Given the description of an element on the screen output the (x, y) to click on. 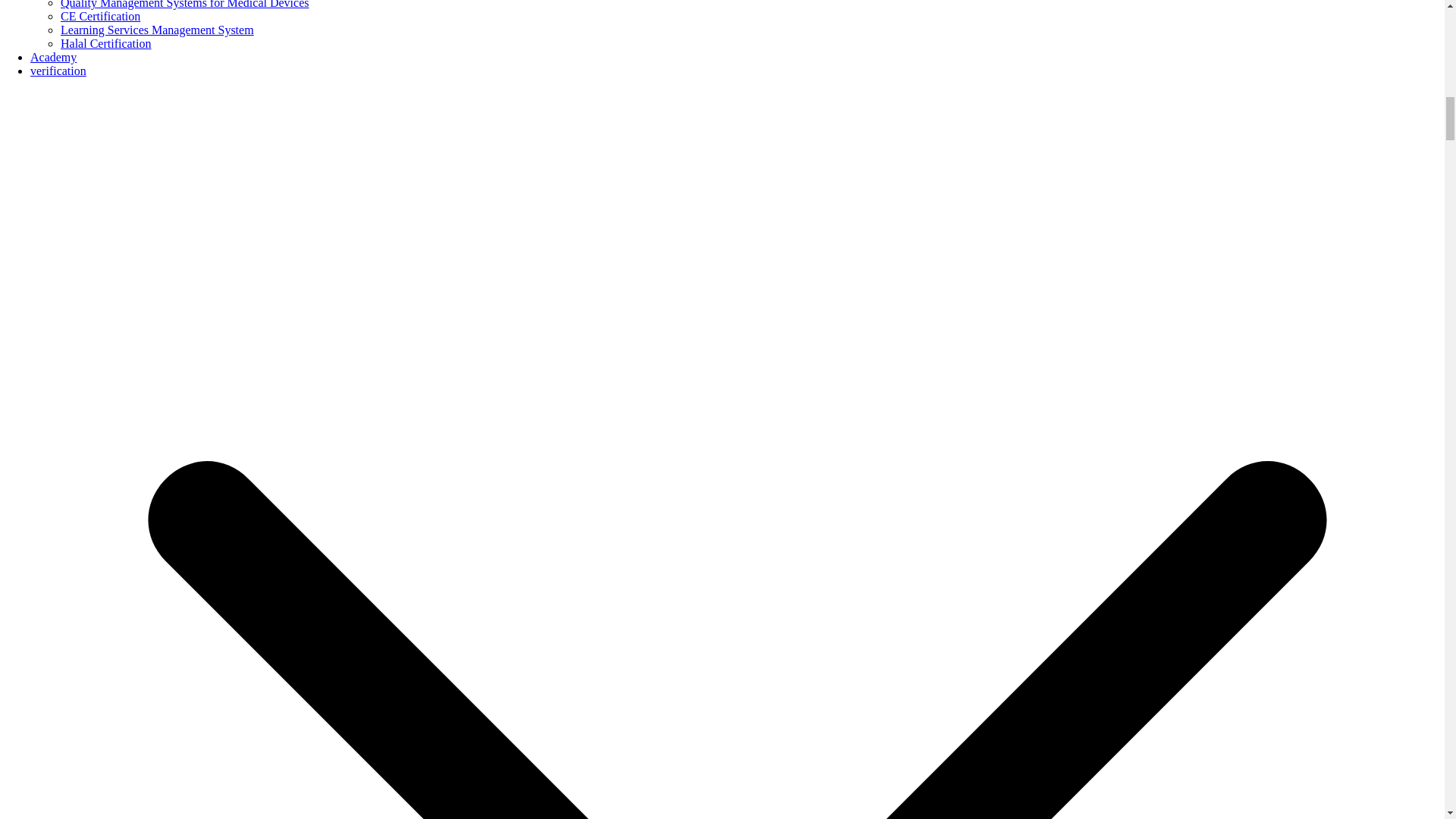
CE Certification (100, 15)
Learning Services Management System (157, 29)
Academy (53, 56)
Halal Certification (106, 42)
Quality Management Systems for Medical Devices (184, 4)
